Given the description of an element on the screen output the (x, y) to click on. 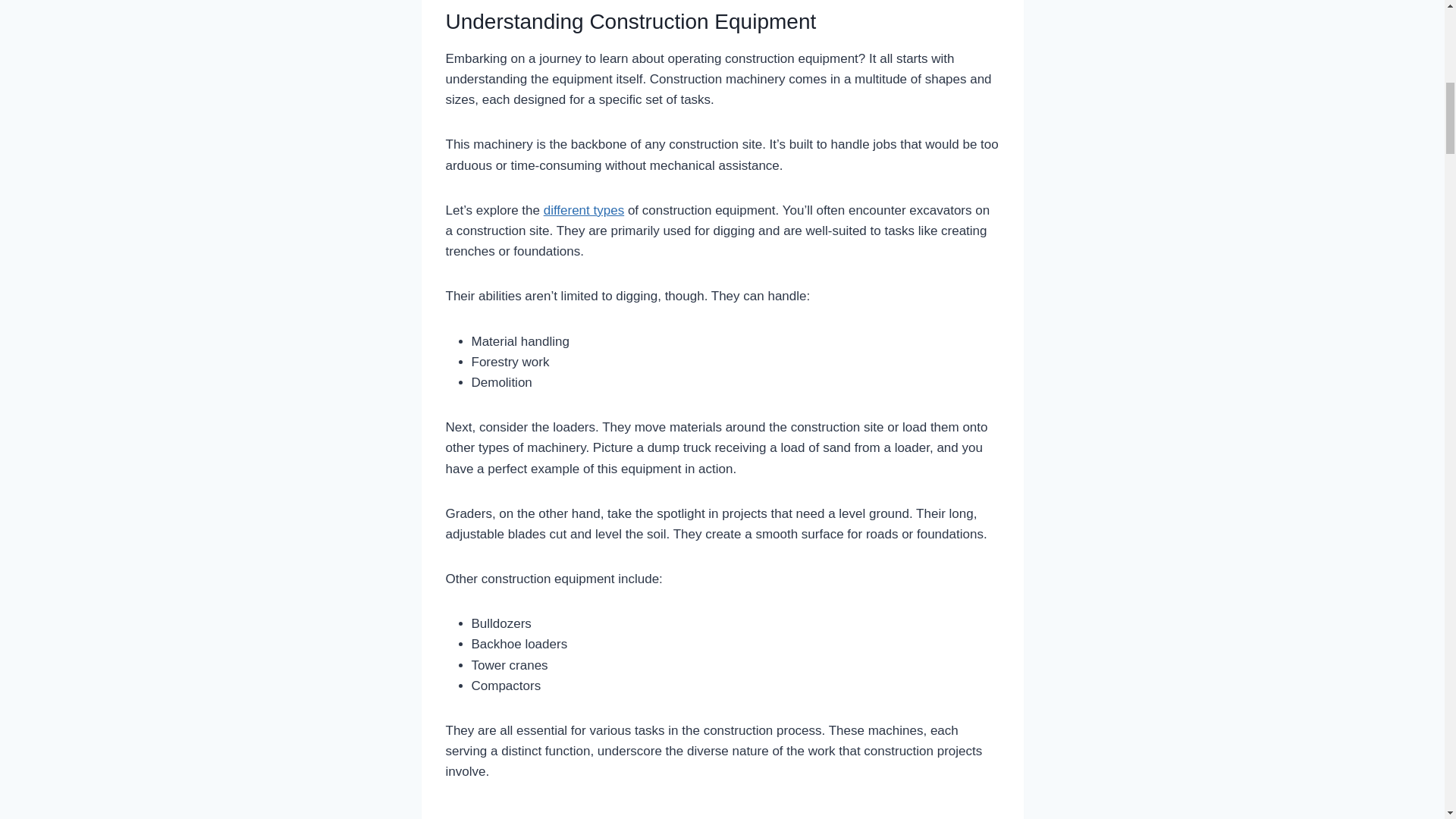
different types (583, 210)
different types (583, 210)
